Given the description of an element on the screen output the (x, y) to click on. 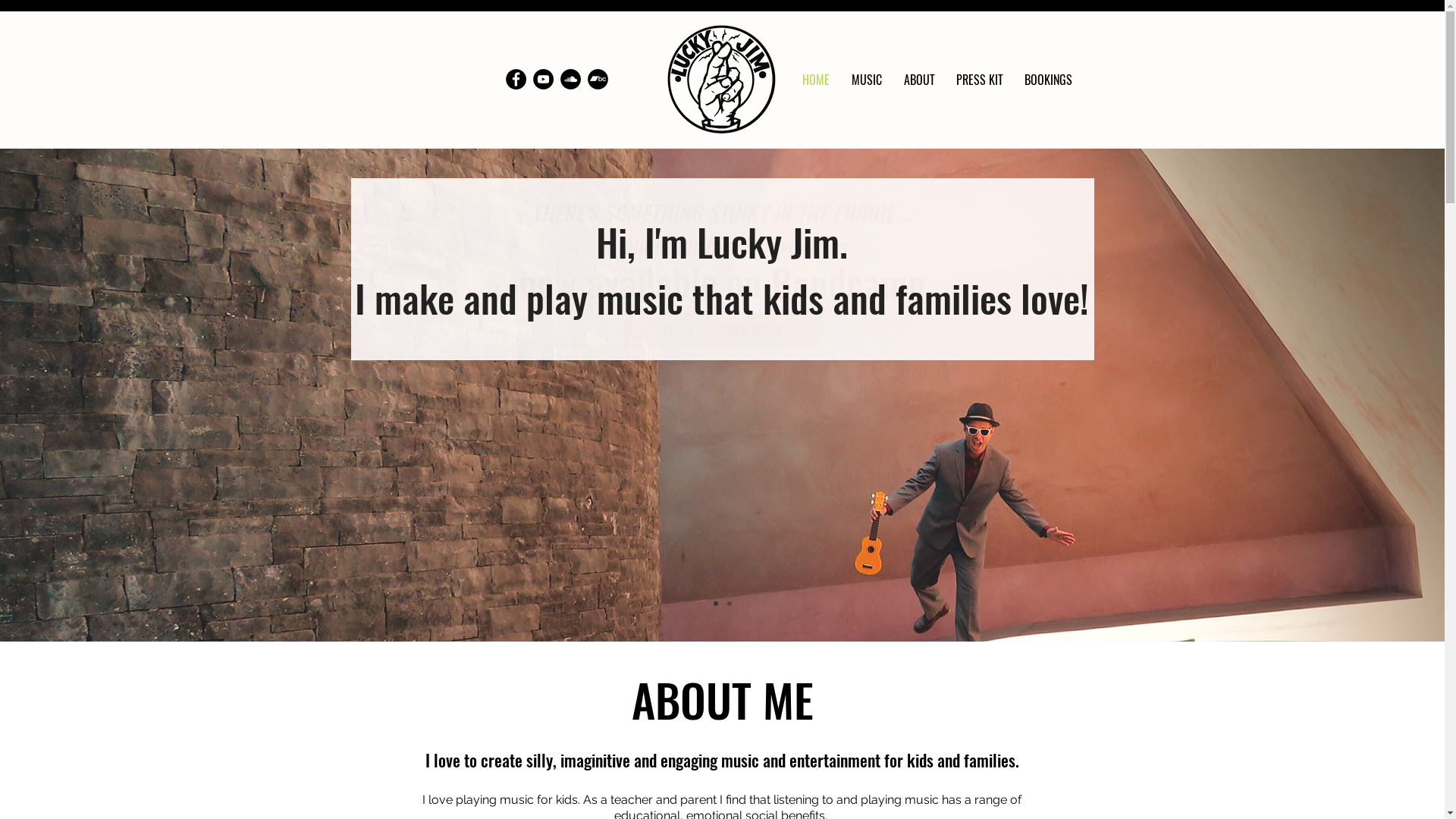
kids and families Element type: text (886, 297)
PRESS KIT Element type: text (979, 79)
LISTEN & BUY NOW Element type: text (721, 329)
MUSIC Element type: text (865, 79)
ABOUT Element type: text (919, 79)
HOME Element type: text (815, 79)
BOOKINGS Element type: text (1048, 79)
